Given the description of an element on the screen output the (x, y) to click on. 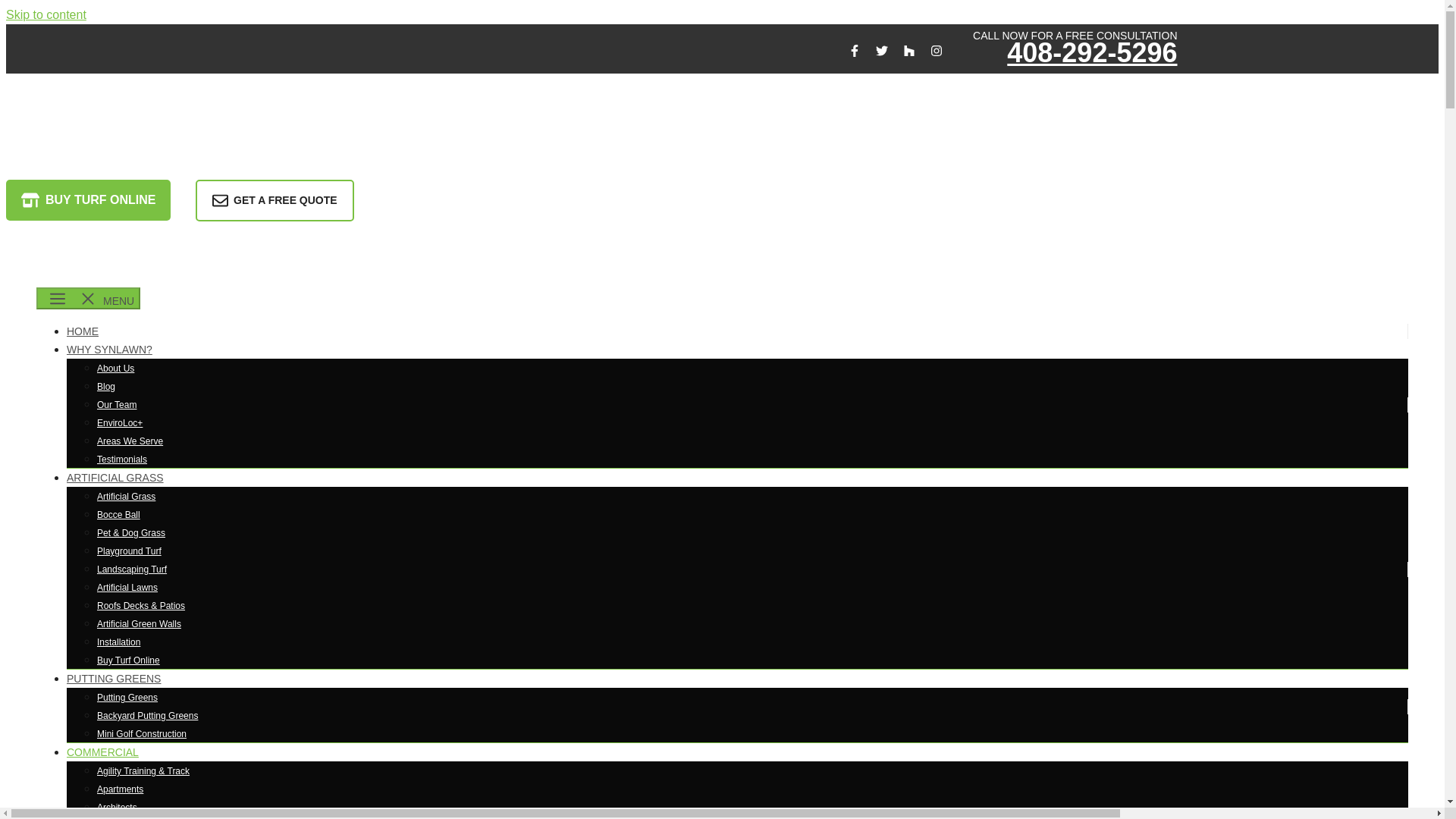
HOME (82, 331)
Our Team (116, 404)
Testimonials (122, 459)
Skip to content (45, 14)
Artificial Lawns (127, 587)
MENU (87, 298)
Installation (118, 642)
Skip to content (45, 14)
Bocce Ball (118, 514)
Landscaping Turf (132, 569)
